Given the description of an element on the screen output the (x, y) to click on. 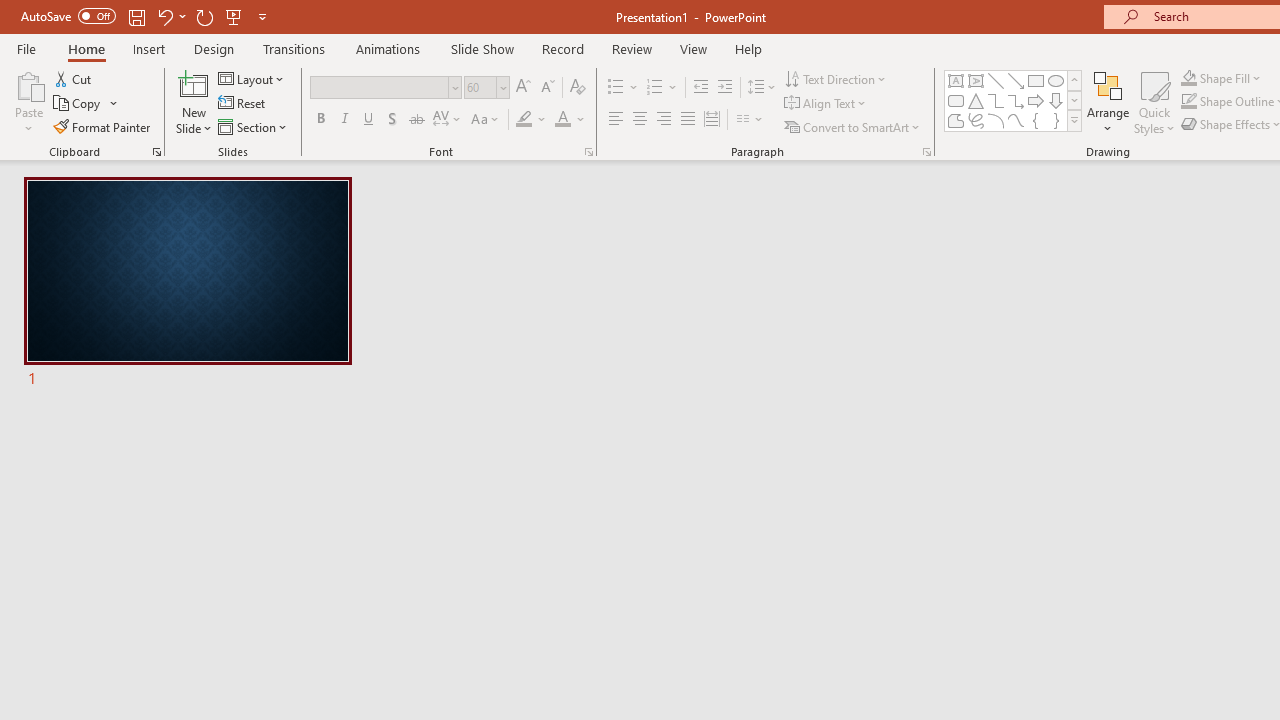
Shape Fill Orange, Accent 2 (1188, 78)
